Given the description of an element on the screen output the (x, y) to click on. 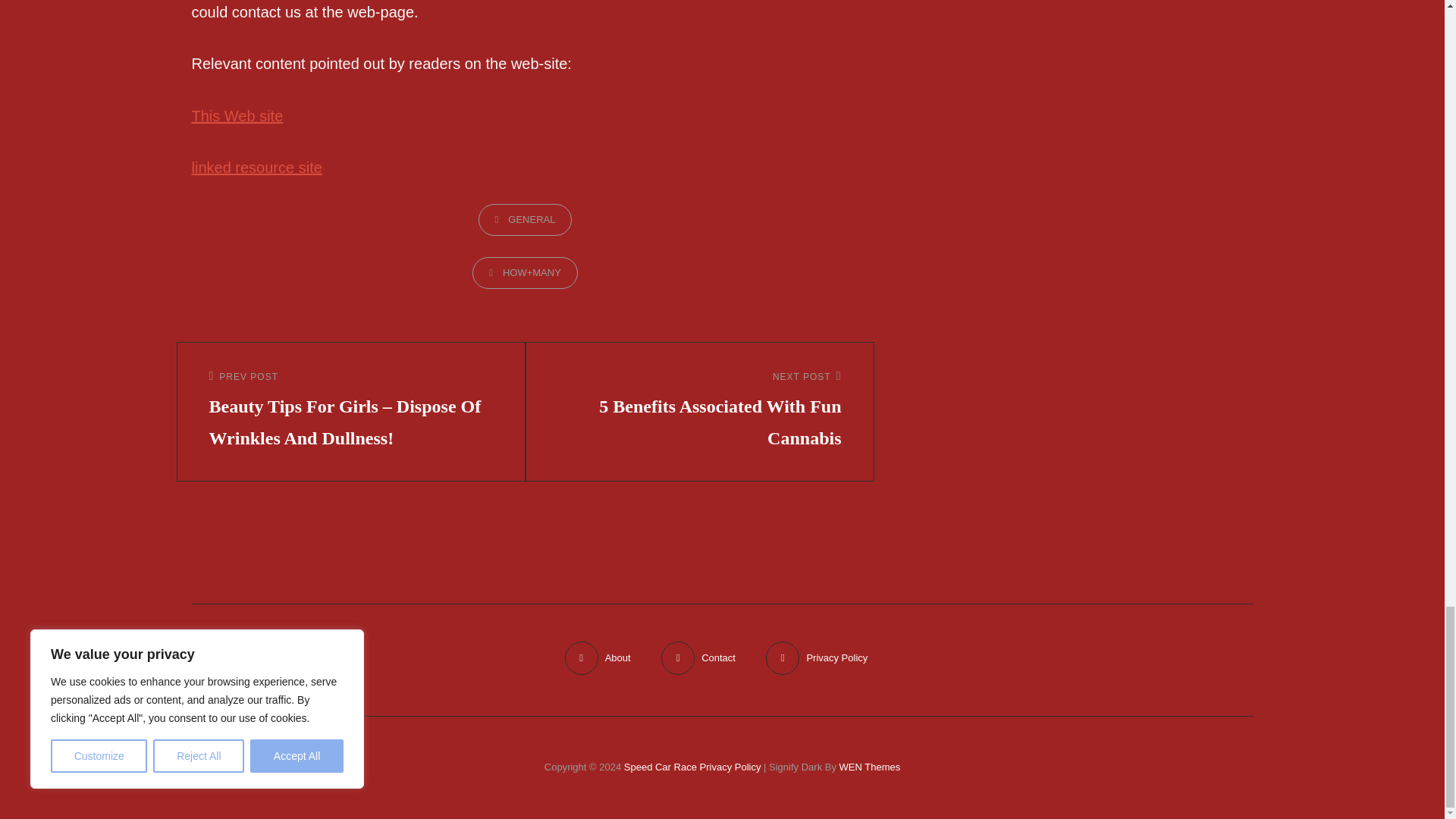
GENERAL (525, 219)
This Web site (236, 115)
linked resource site (699, 411)
